Given the description of an element on the screen output the (x, y) to click on. 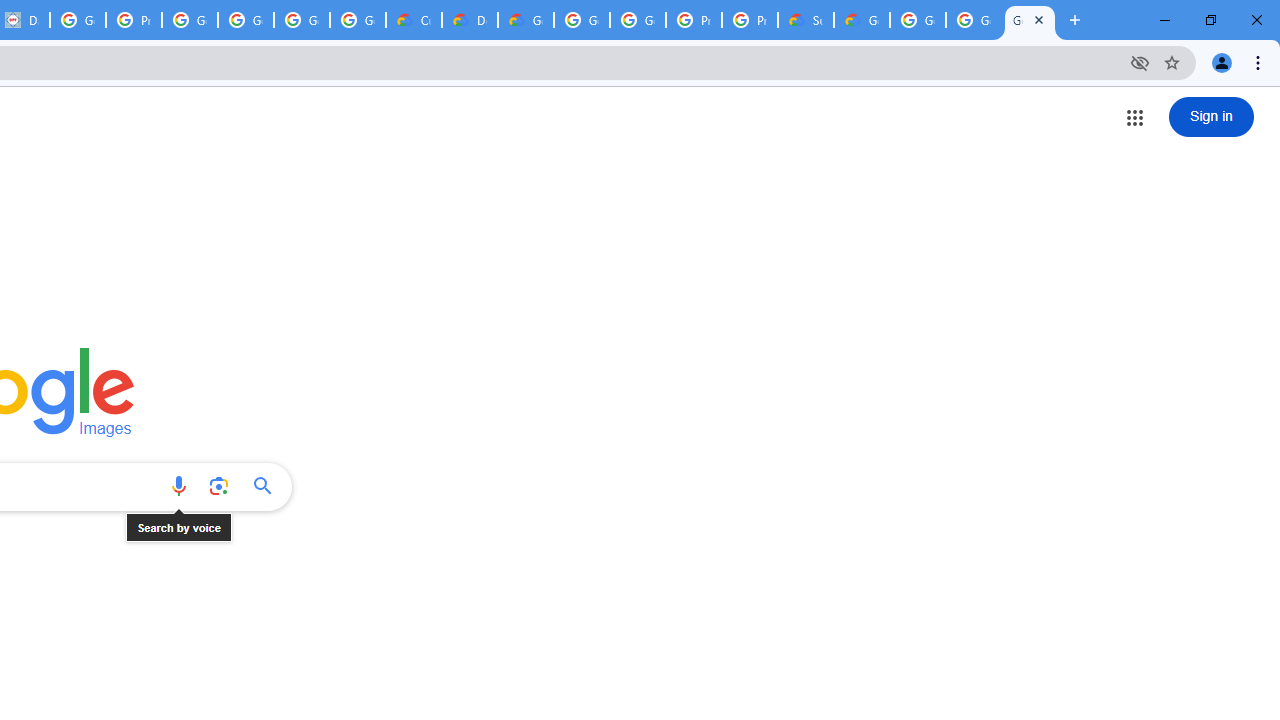
Google Workspace - Specific Terms (301, 20)
Customer Care | Google Cloud (413, 20)
Google Cloud Platform (582, 20)
Google Cloud Service Health (861, 20)
Search by voice (178, 485)
Google Search (268, 485)
Gemini for Business and Developers | Google Cloud (525, 20)
Search by image (218, 485)
Google Workspace - Specific Terms (358, 20)
